Given the description of an element on the screen output the (x, y) to click on. 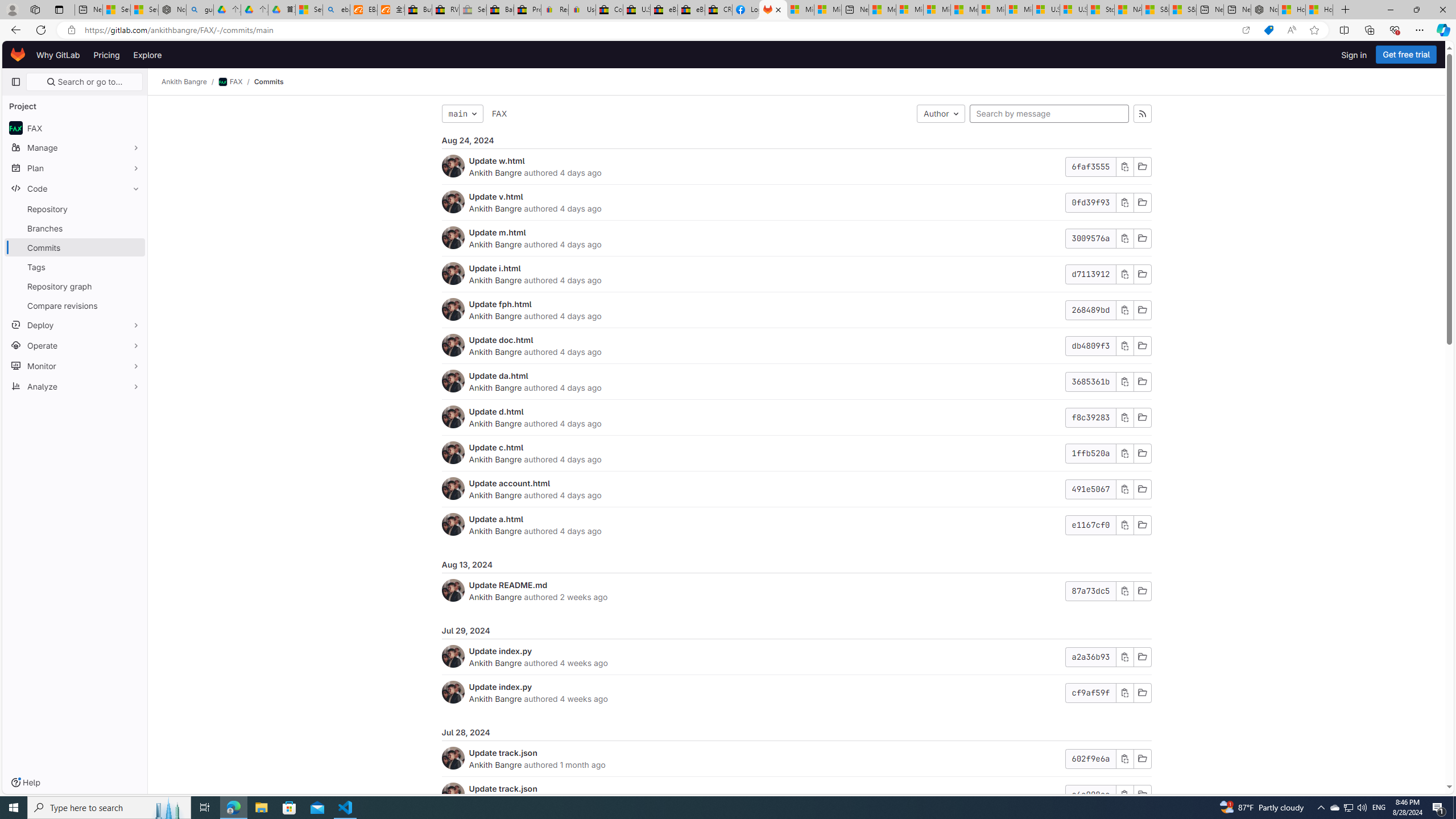
Get free trial (1406, 54)
Code (74, 188)
Update i.htmlAnkith Bangre authored 4 days agod7113912 (796, 274)
Consumer Health Data Privacy Policy - eBay Inc. (609, 9)
Update d.html (496, 411)
Deploy (74, 324)
Browse Files (1141, 794)
Log into Facebook (746, 9)
